Given the description of an element on the screen output the (x, y) to click on. 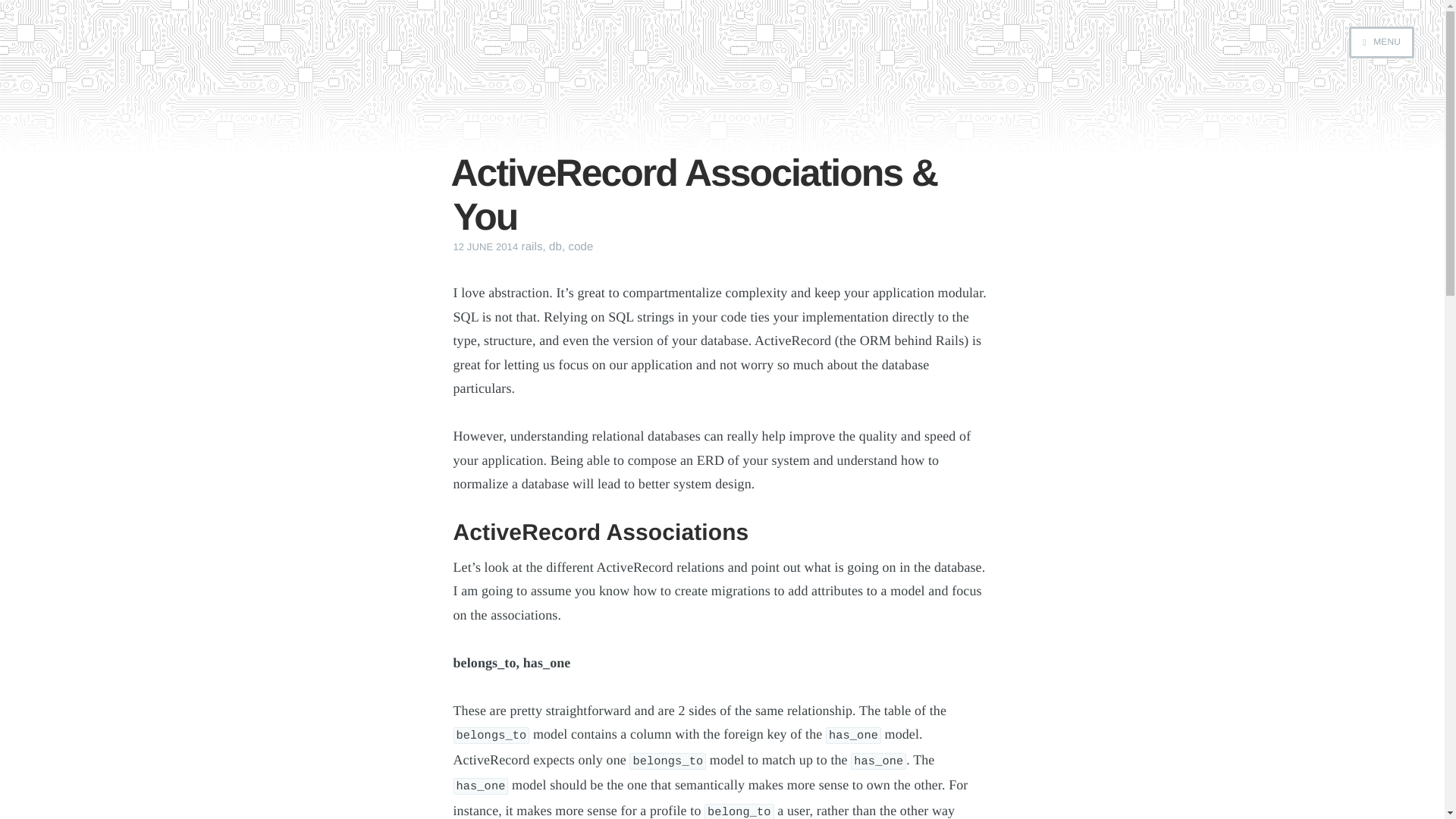
code (581, 246)
rails (532, 246)
db (555, 246)
MENU (1381, 42)
